Given the description of an element on the screen output the (x, y) to click on. 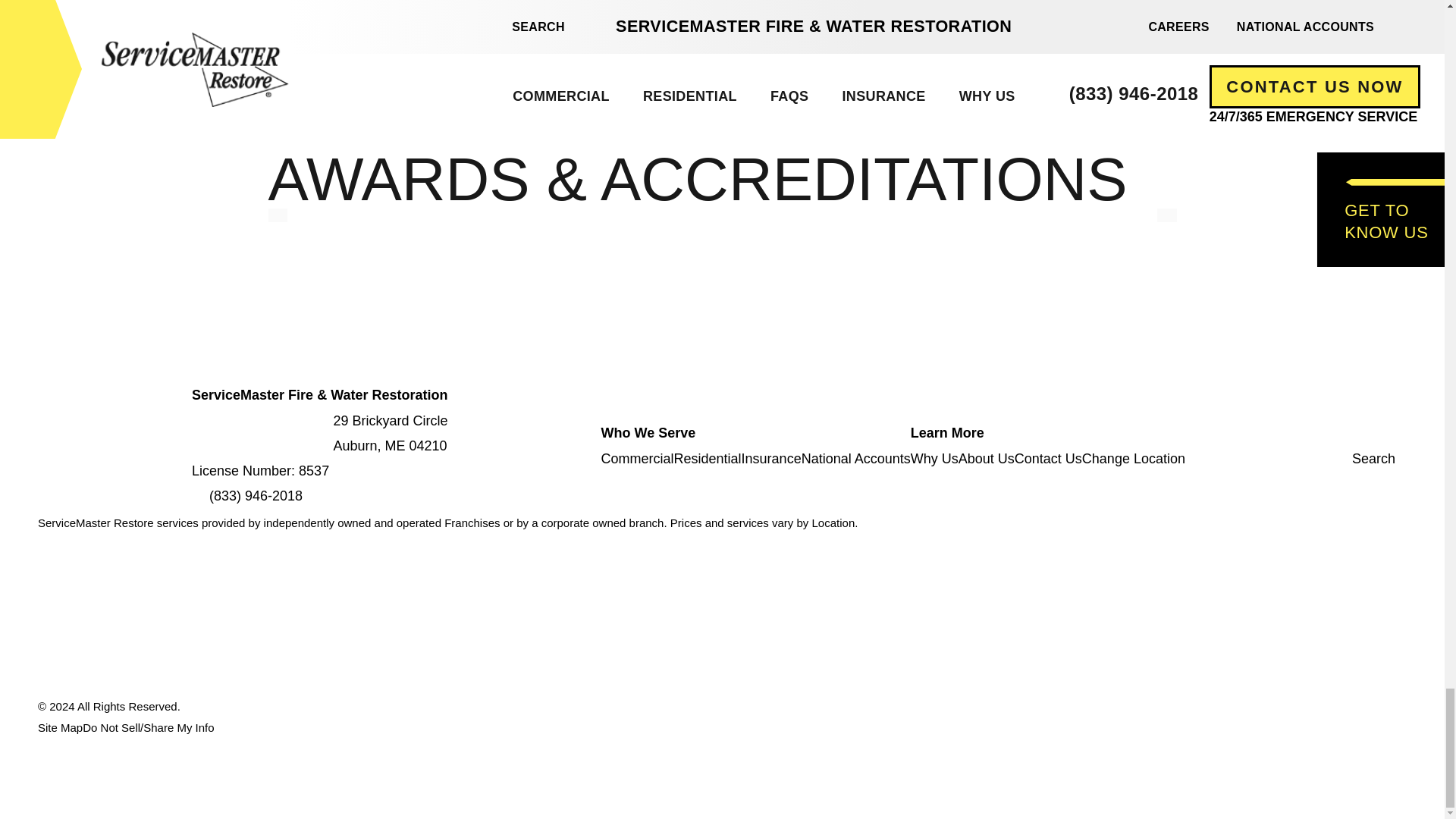
Linkedin (1371, 432)
View previous item (276, 214)
Instagram (1385, 432)
View next item (1166, 214)
Google My Business (1399, 432)
Facebook (1358, 432)
Youtube (1345, 432)
